Given the description of an element on the screen output the (x, y) to click on. 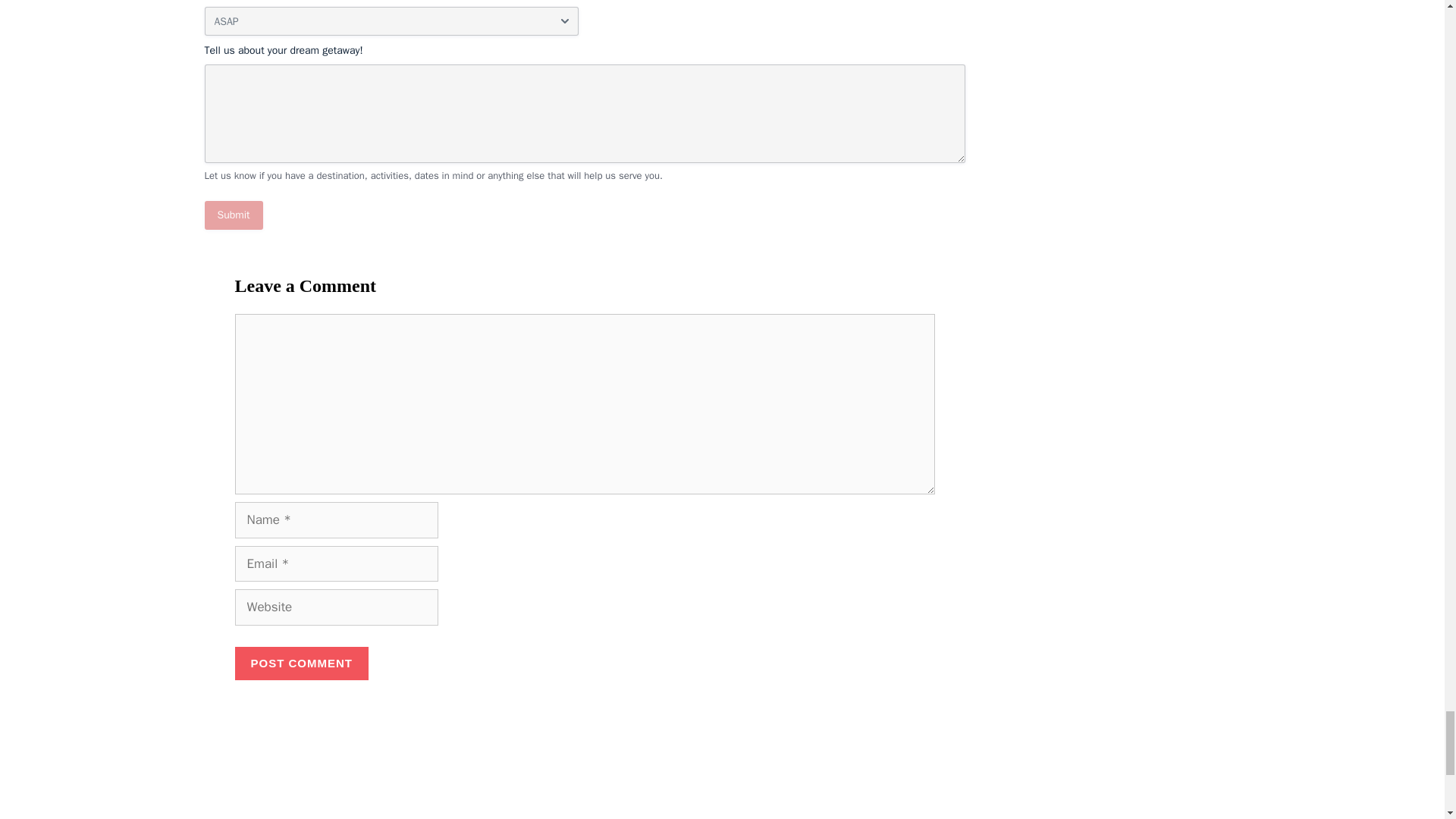
Submit (234, 215)
Post Comment (301, 663)
